Given the description of an element on the screen output the (x, y) to click on. 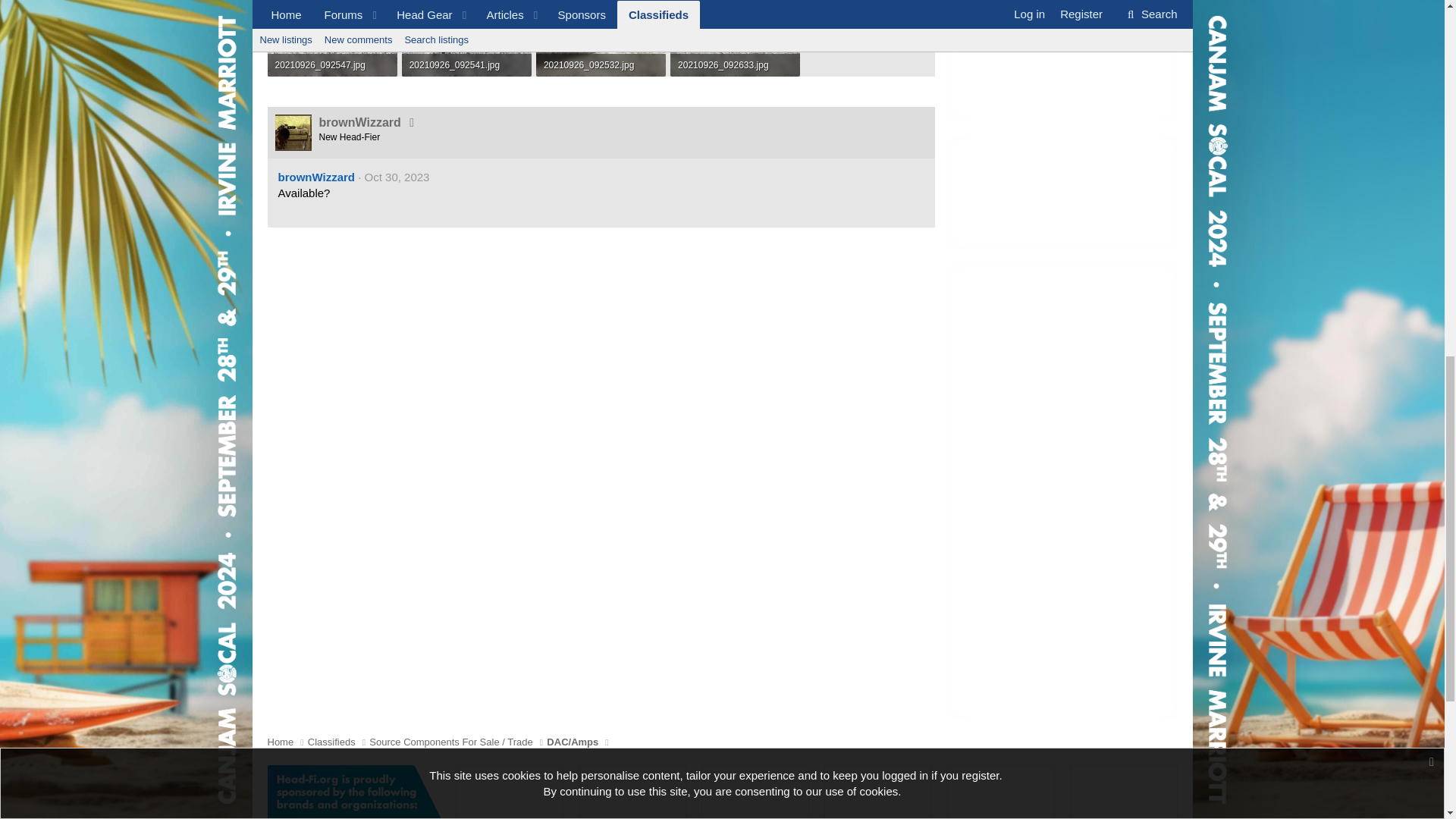
3rd party ad content (632, 792)
3rd party ad content (878, 792)
Oct 30, 2023 at 6:46 PM (397, 176)
3rd party ad content (754, 792)
3rd party ad content (1062, 60)
Send brownWizzard a private message (411, 122)
3rd party ad content (1062, 192)
3rd party ad content (509, 792)
